Given the description of an element on the screen output the (x, y) to click on. 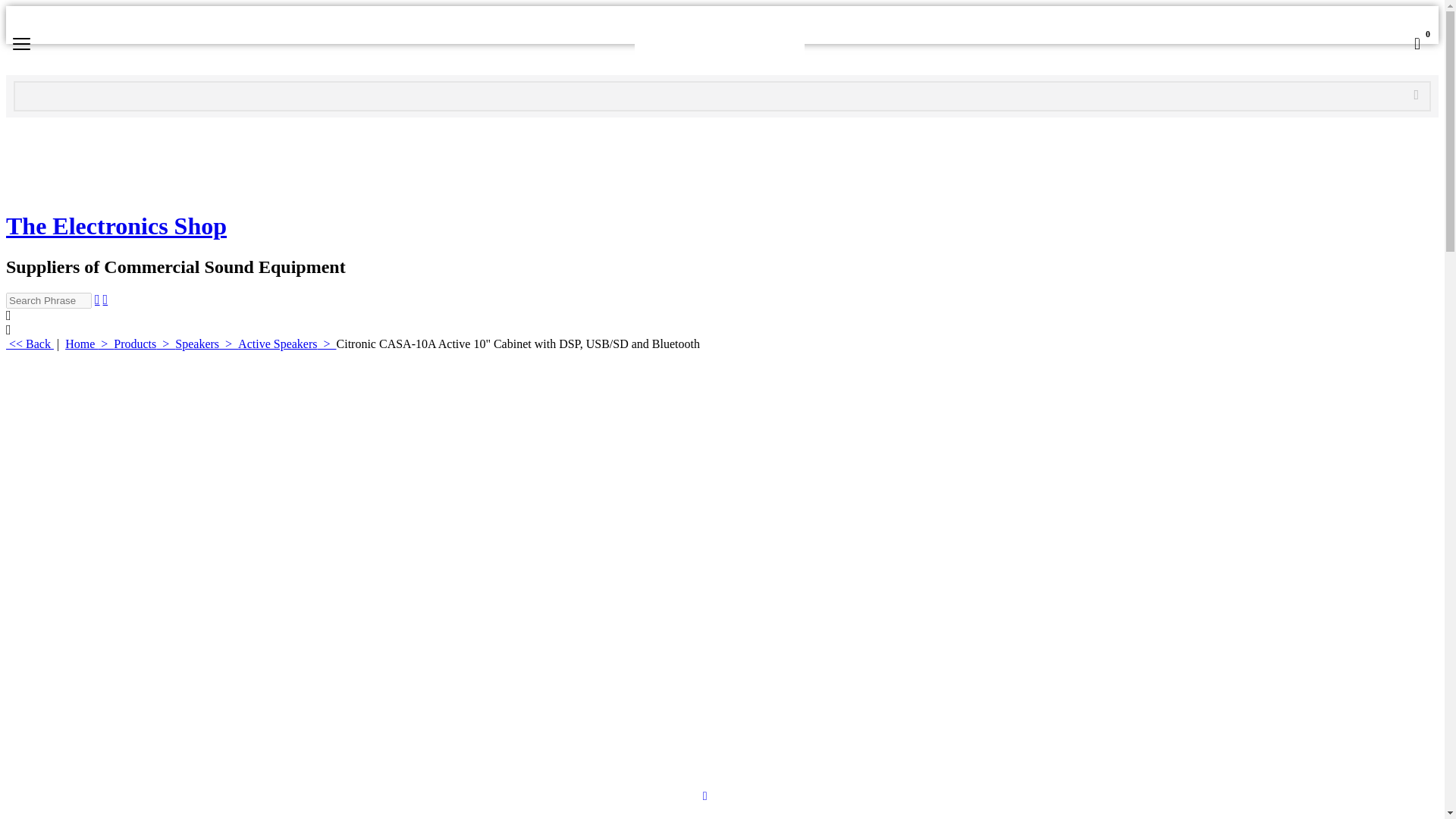
The Electronics Shop (137, 188)
Home  (89, 343)
Active Speakers (287, 343)
Products (143, 343)
The Electronics Shop (718, 44)
Speakers (206, 343)
Find (1416, 94)
The Electronics Shop (137, 155)
The Electronics Shop (718, 44)
